Given the description of an element on the screen output the (x, y) to click on. 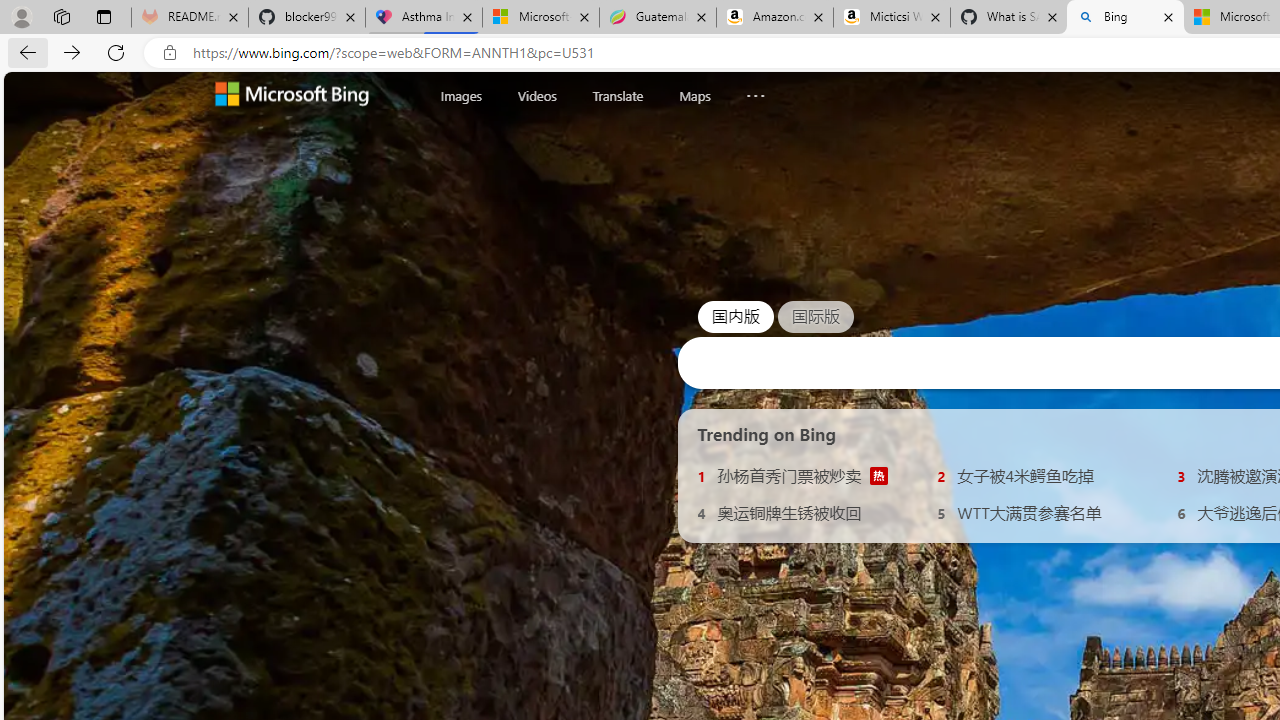
Images (461, 95)
Videos (536, 95)
More (755, 91)
Videos (536, 95)
Maps (694, 95)
Trending on Bing (767, 434)
